Given the description of an element on the screen output the (x, y) to click on. 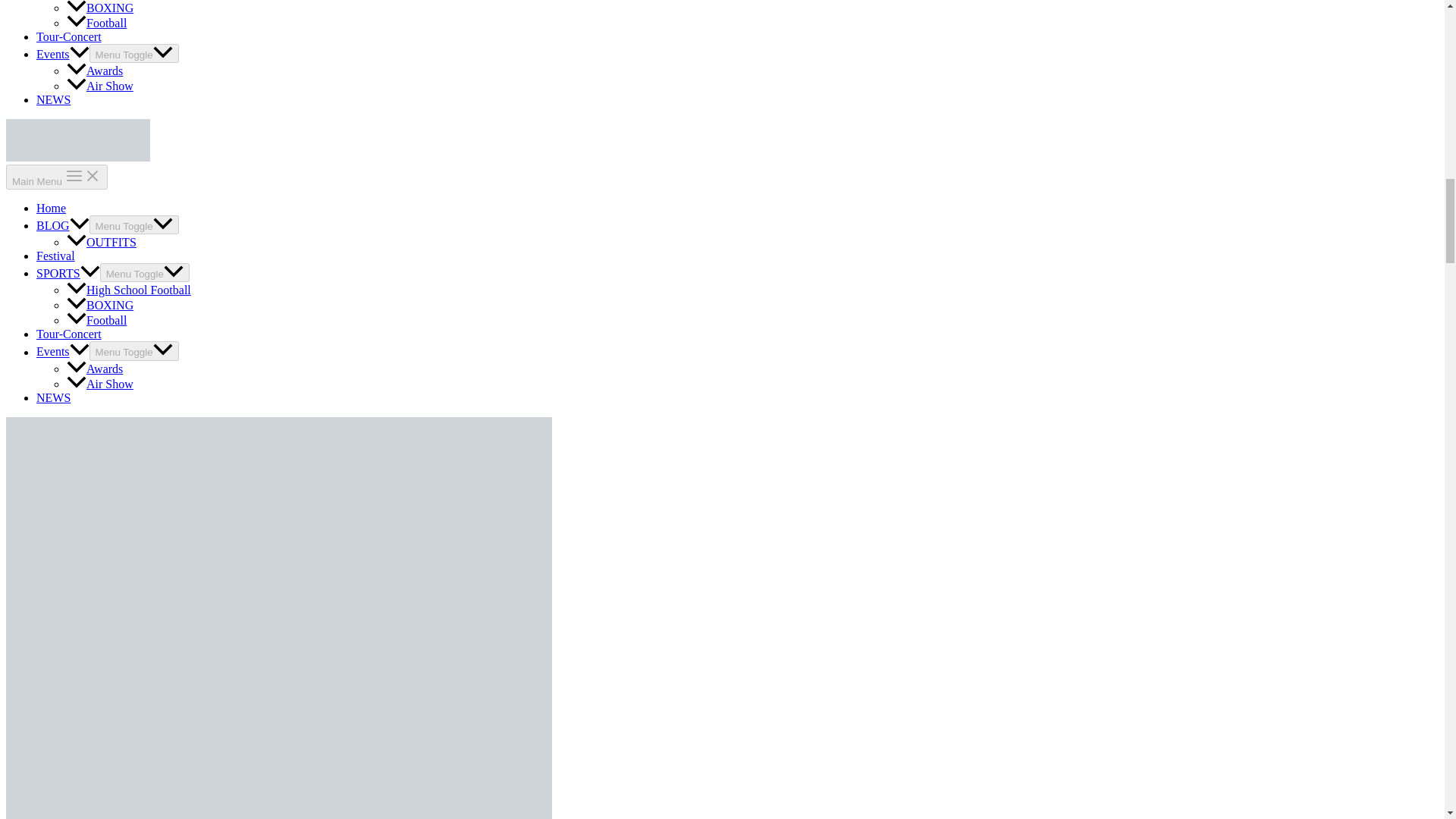
Football (96, 22)
Home (50, 207)
BOXING (99, 305)
Football (96, 319)
Air Show (99, 85)
Menu Toggle (133, 350)
Tour-Concert (68, 333)
Menu Toggle (133, 53)
Events (62, 351)
Tour-Concert (68, 36)
BOXING (99, 7)
SPORTS (68, 273)
Main Menu (56, 176)
NEWS (52, 99)
High School Football (128, 289)
